Given the description of an element on the screen output the (x, y) to click on. 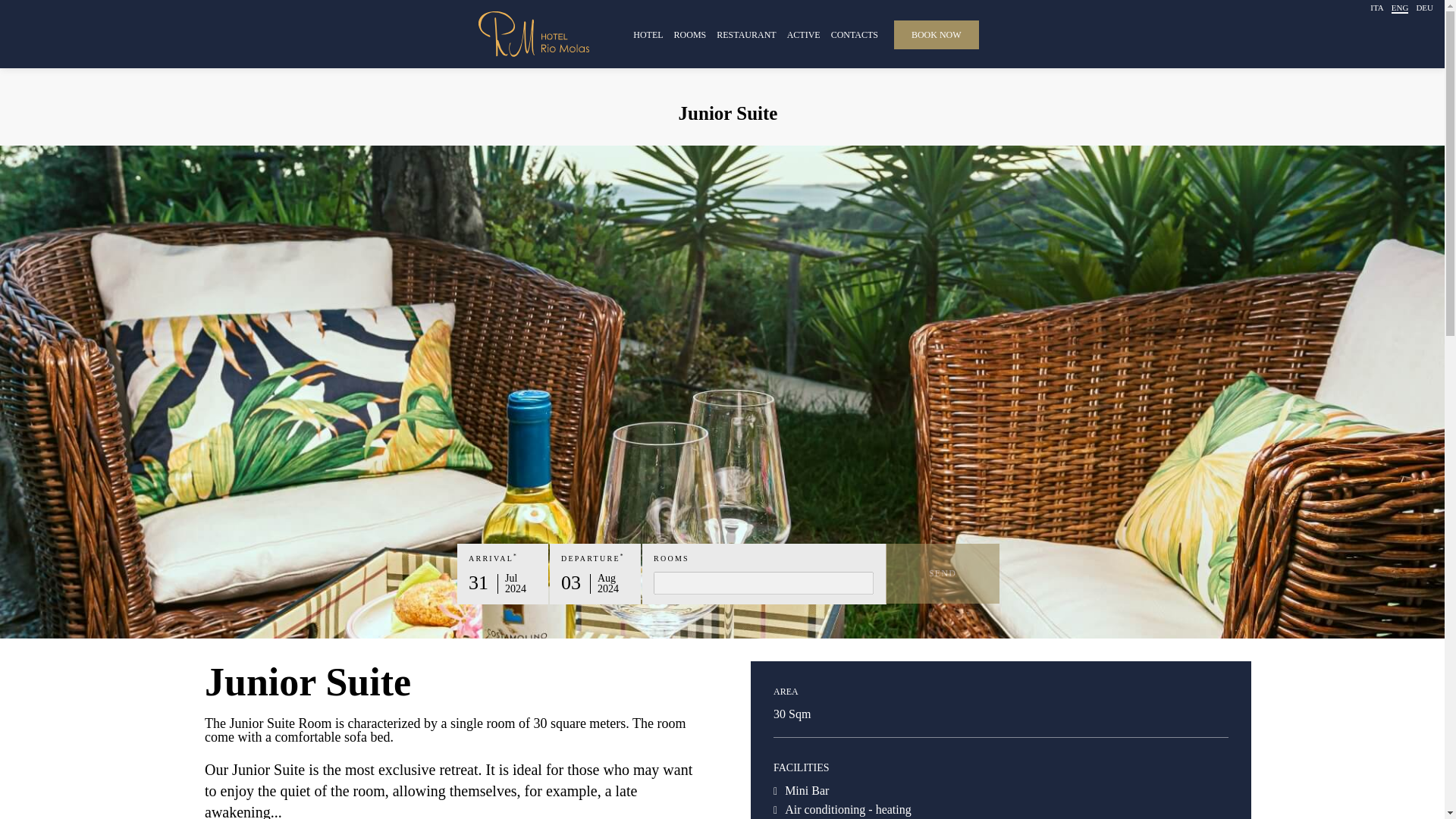
ITA (1376, 8)
Send (941, 573)
RESTAURANT (746, 33)
ENG (1400, 8)
ROOMS (690, 33)
DEU (1423, 8)
Send (941, 573)
ACTIVE (804, 33)
HOTEL (647, 33)
CONTACTS (854, 33)
